Given the description of an element on the screen output the (x, y) to click on. 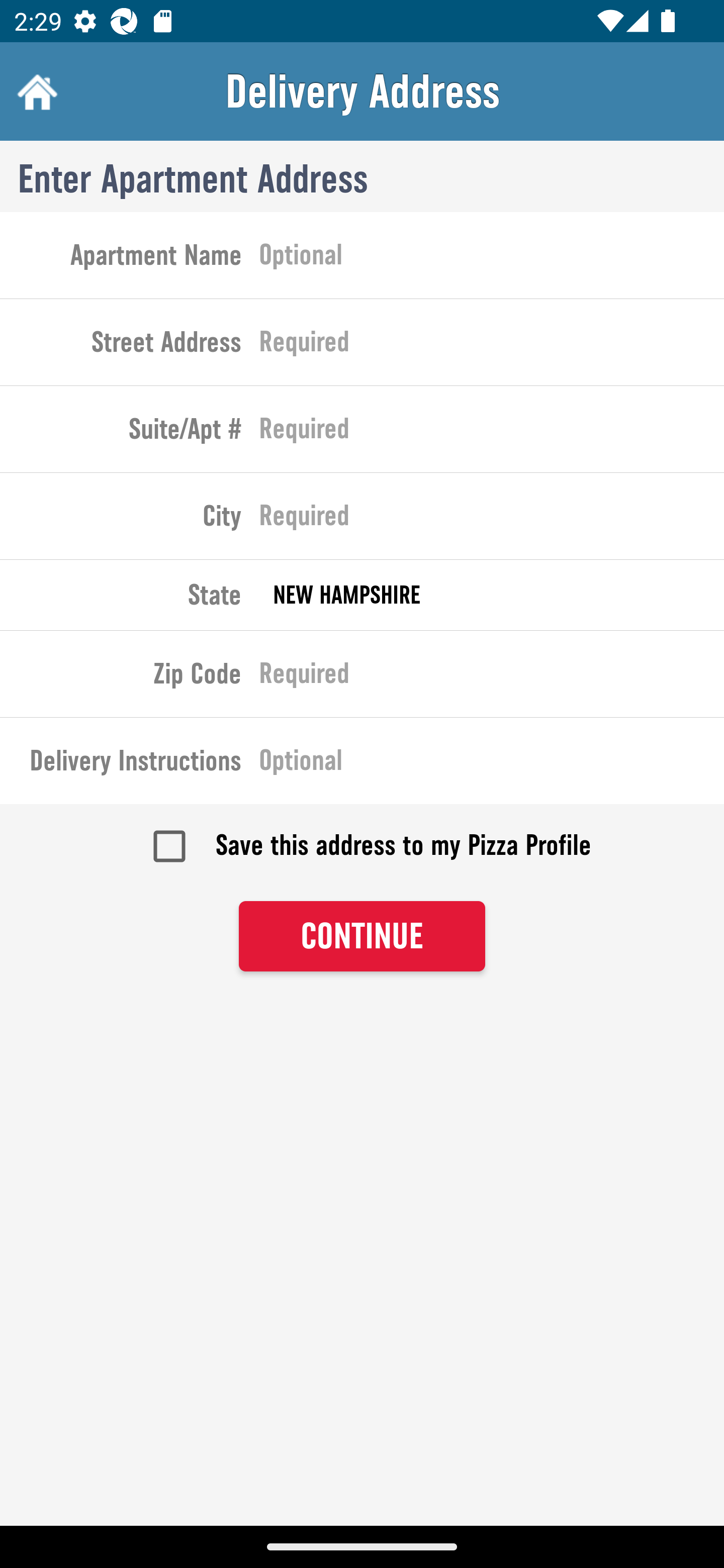
Home (35, 91)
Optional (491, 258)
Required (491, 345)
Required (491, 432)
Required (491, 519)
NEW HAMPSHIRE (491, 594)
Required (491, 677)
Optional (491, 764)
CONTINUE (361, 936)
